Given the description of an element on the screen output the (x, y) to click on. 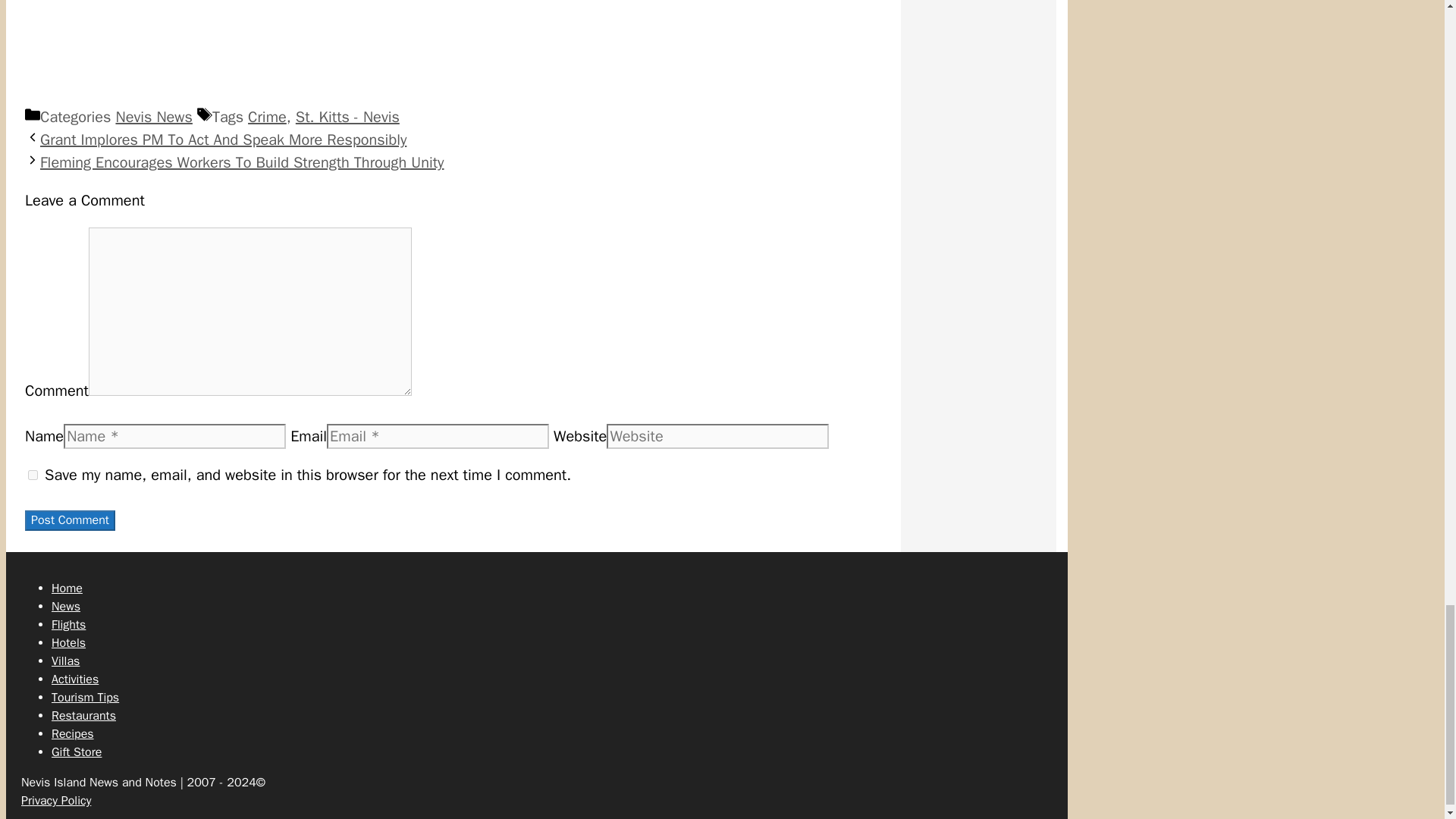
St. Kitts - Nevis (346, 116)
Fleming Encourages Workers To Build Strength Through Unity (242, 162)
Crime (266, 116)
Nevis News (153, 116)
Grant Implores PM To Act And Speak More Responsibly (223, 139)
Post Comment (69, 520)
yes (32, 474)
Post Comment (69, 520)
